Given the description of an element on the screen output the (x, y) to click on. 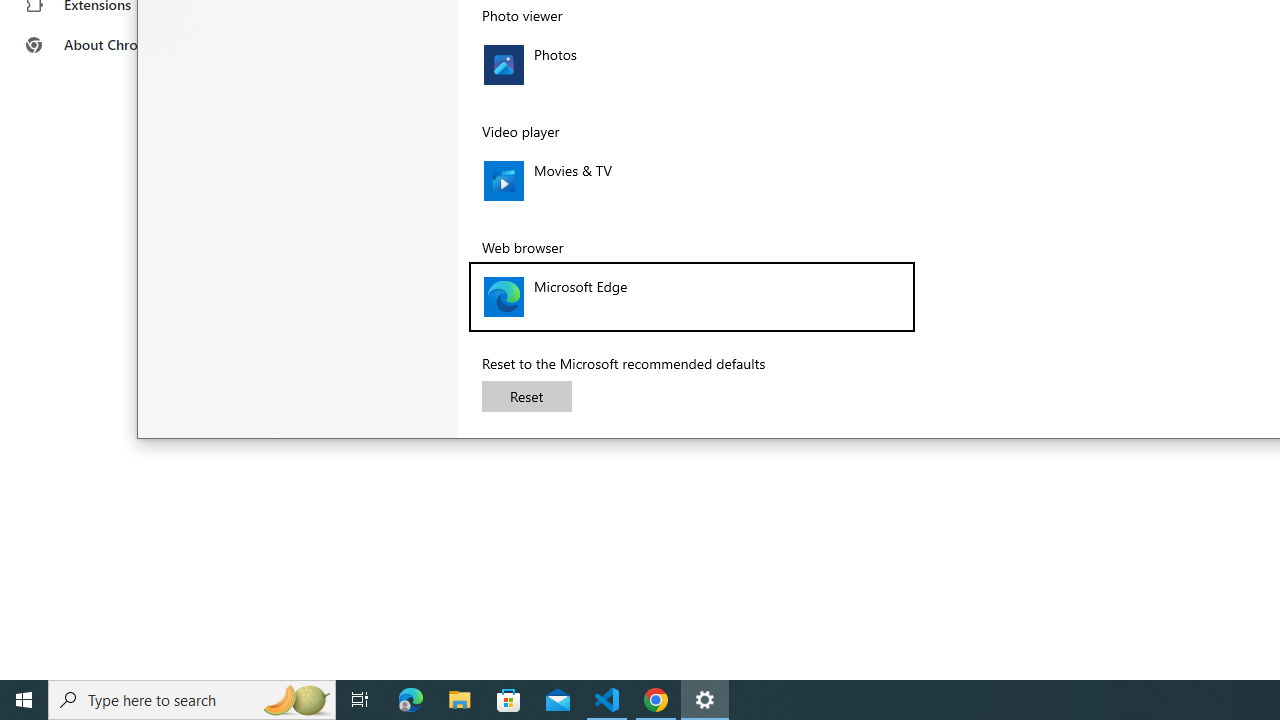
Type here to search (191, 699)
Task View (359, 699)
